Given the description of an element on the screen output the (x, y) to click on. 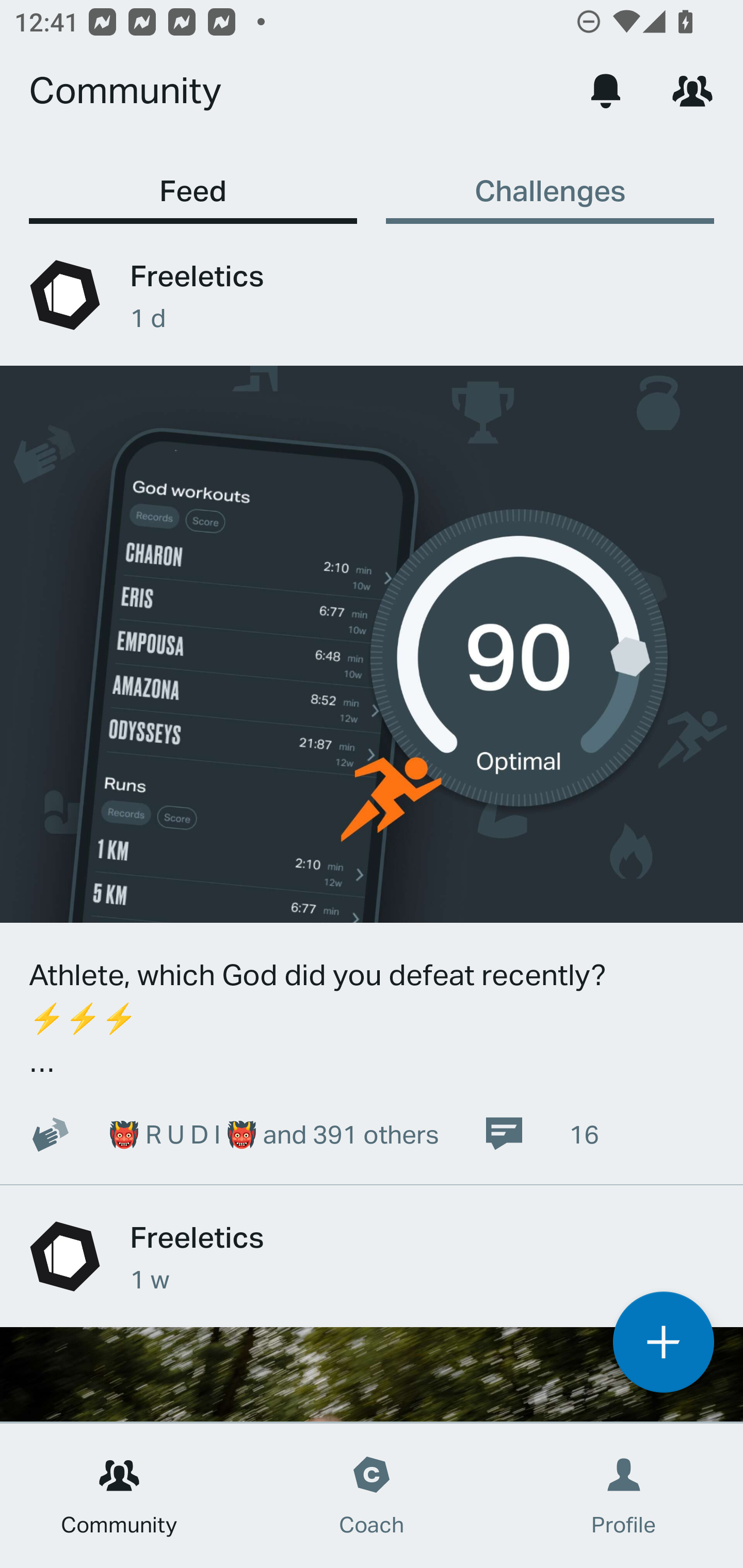
Notifications (605, 90)
Network (692, 90)
Feed (192, 180)
Challenges (549, 180)
👹 R U D I 👹 and 391 others (223, 1133)
16 (540, 1133)
Coach (371, 1495)
Profile (624, 1495)
